Given the description of an element on the screen output the (x, y) to click on. 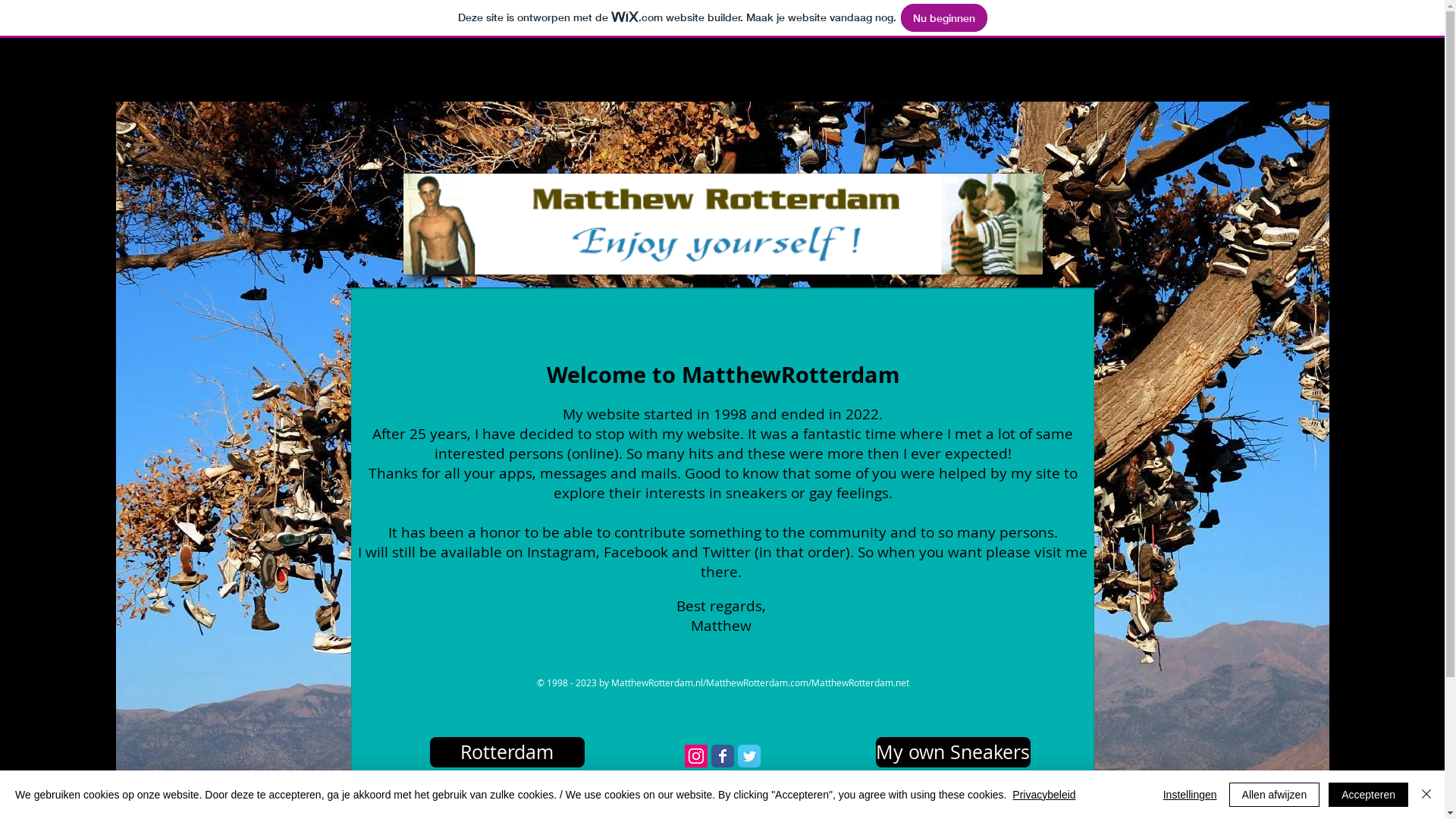
Rotterdam Element type: text (506, 752)
Allen afwijzen Element type: text (1274, 794)
Accepteren Element type: text (1368, 794)
E-mail me! Element type: text (730, 796)
Privacybeleid Element type: text (1043, 794)
My own Sneakers Element type: text (952, 752)
